Given the description of an element on the screen output the (x, y) to click on. 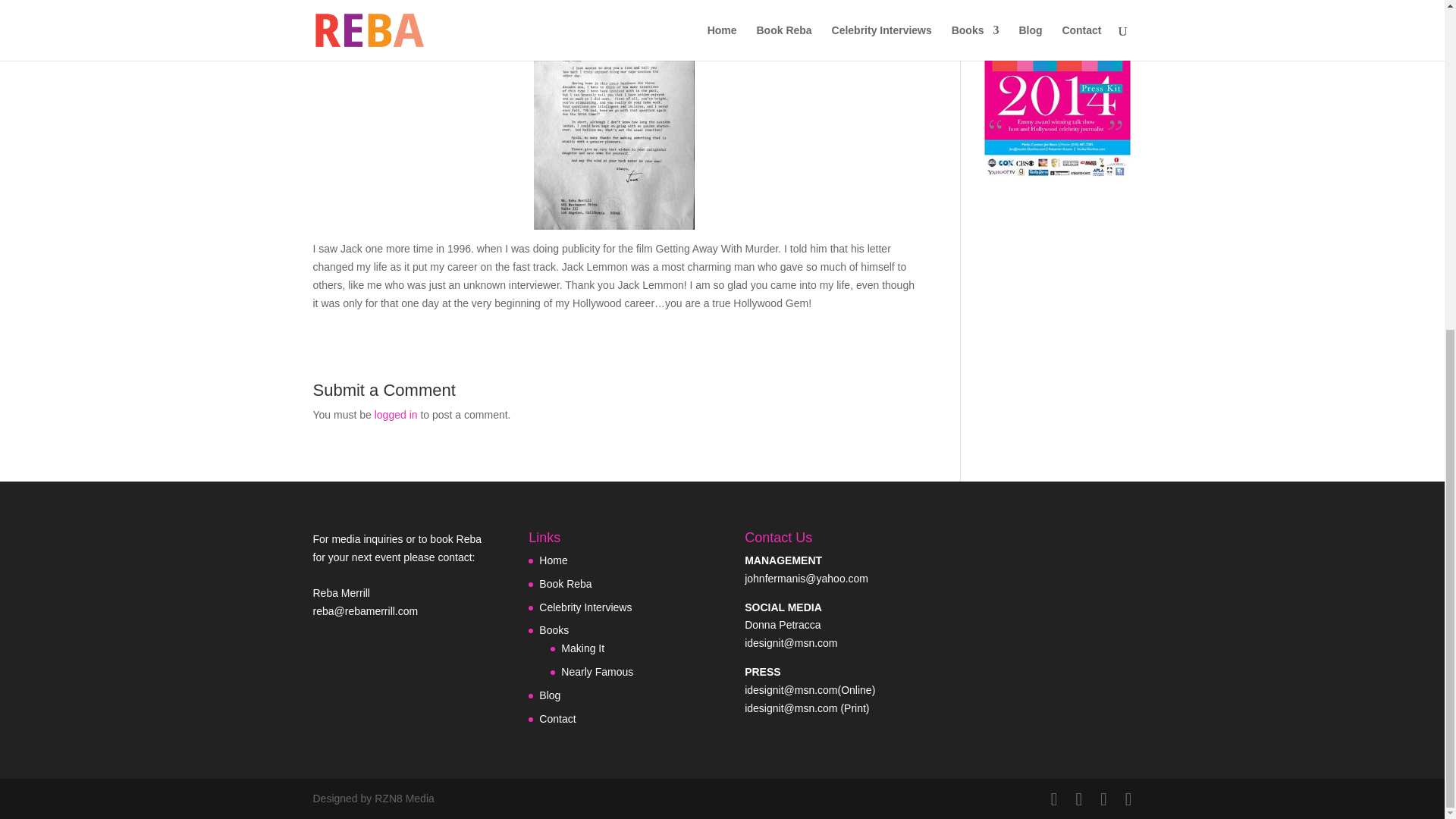
Books (553, 630)
Celebrity Interviews (584, 607)
Contact (556, 718)
Book Reba (564, 583)
Nearly Famous (596, 671)
Blog (549, 695)
Making It (582, 648)
logged in (395, 414)
Home (552, 560)
